Given the description of an element on the screen output the (x, y) to click on. 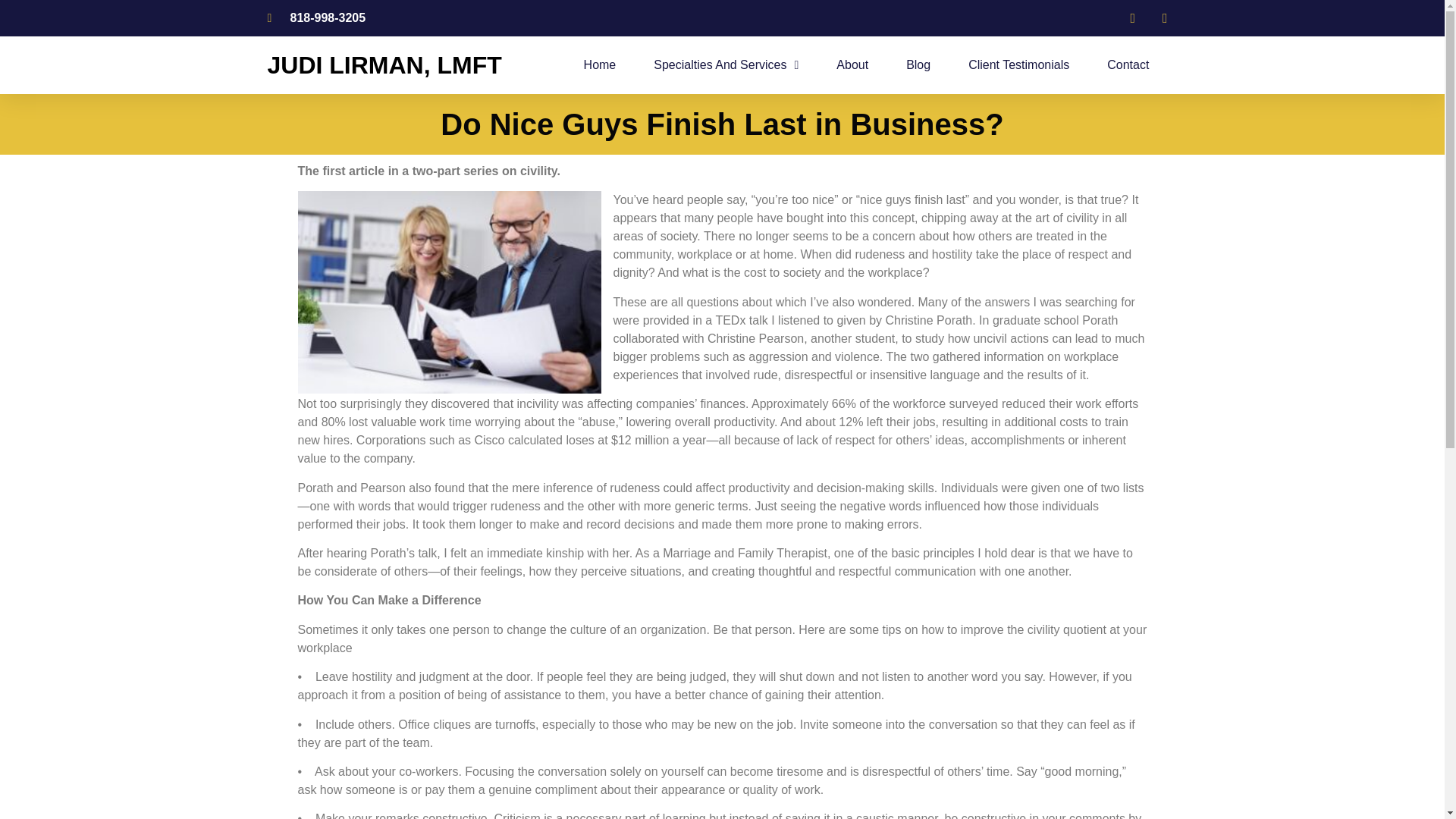
Specialties And Services (725, 64)
Contact (1127, 64)
About (851, 64)
Home (599, 64)
Client Testimonials (1018, 64)
